Given the description of an element on the screen output the (x, y) to click on. 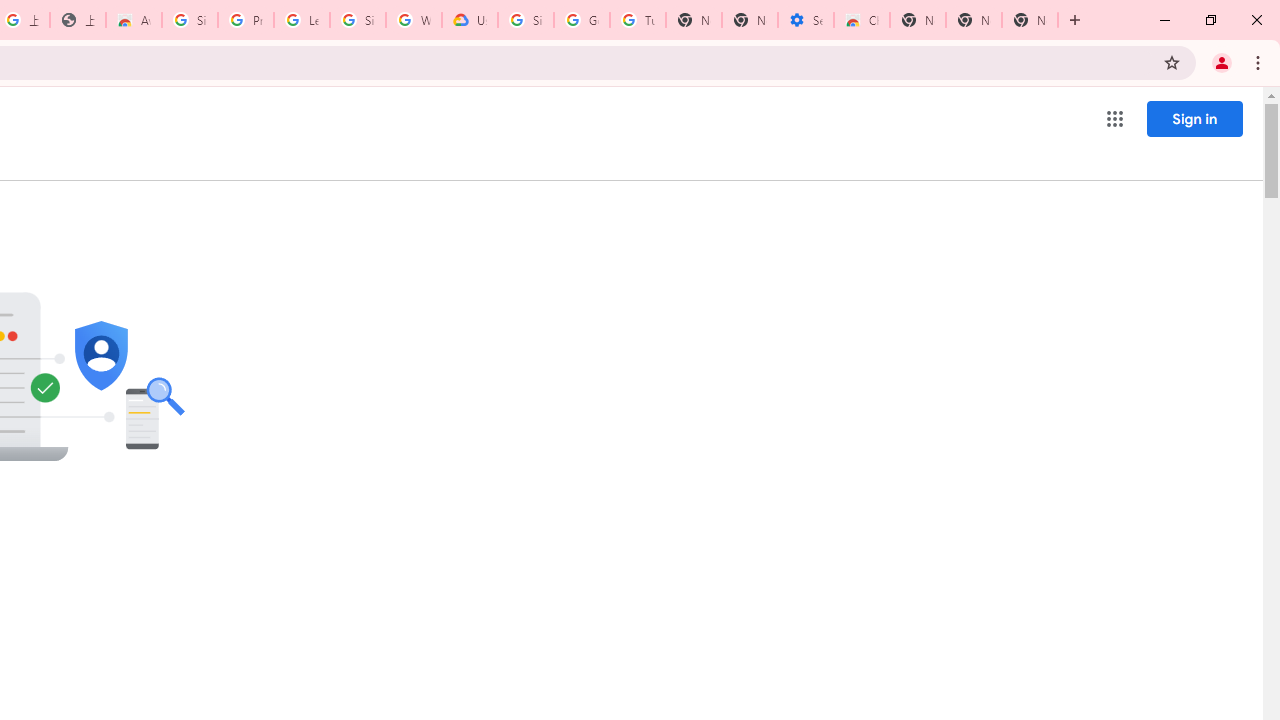
Sign in - Google Accounts (189, 20)
Sign in - Google Accounts (525, 20)
Turn cookies on or off - Computer - Google Account Help (637, 20)
Who are Google's partners? - Privacy and conditions - Google (413, 20)
Sign in - Google Accounts (358, 20)
